Given the description of an element on the screen output the (x, y) to click on. 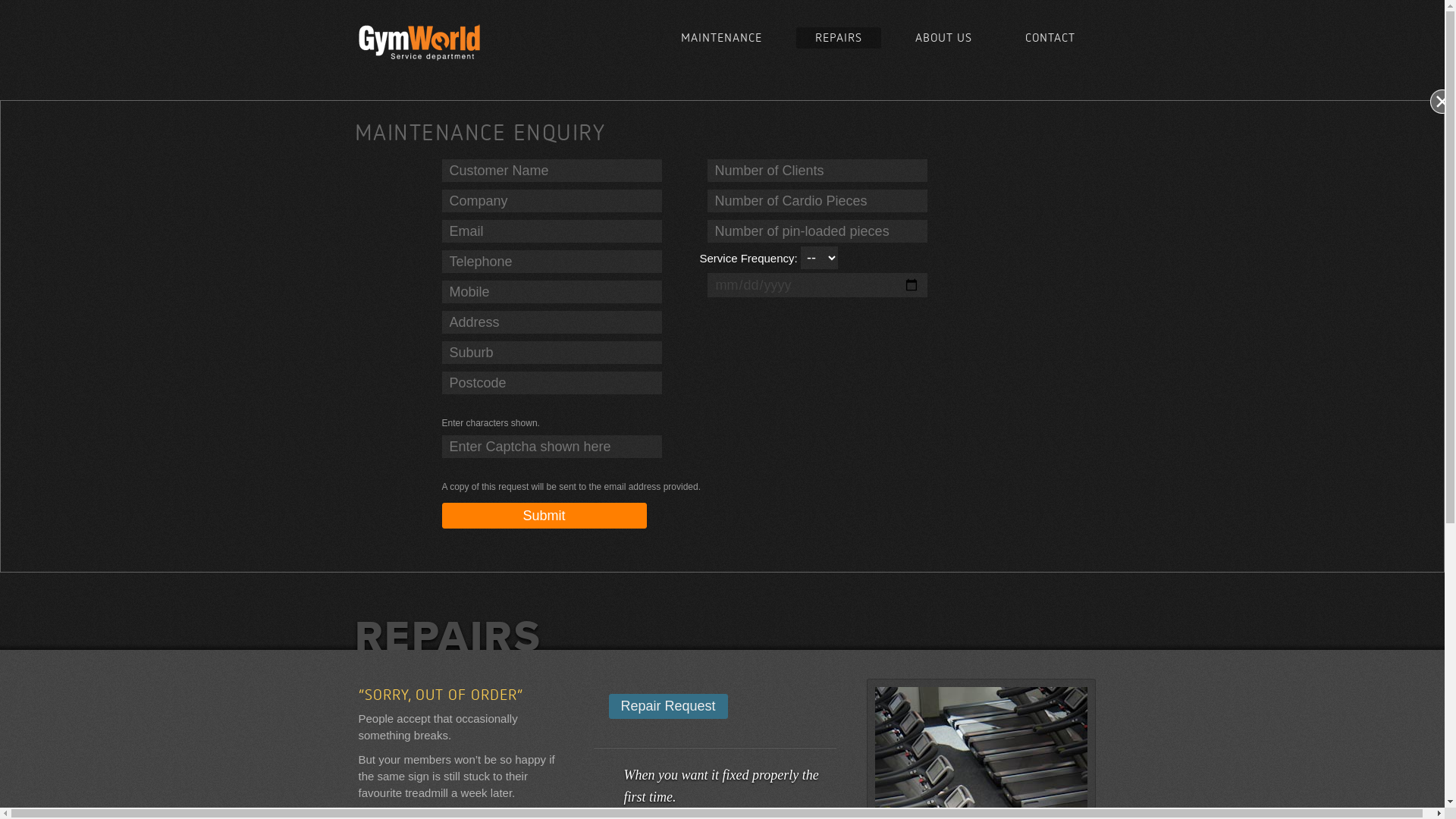
Submit Element type: text (543, 515)
REPAIRS Element type: text (838, 37)
CONTACT Element type: text (1049, 37)
ABOUT US Element type: text (943, 37)
Repair Request Element type: text (667, 705)
MAINTENANCE Element type: text (720, 37)
Gymworld Victoria Element type: text (420, 39)
